Given the description of an element on the screen output the (x, y) to click on. 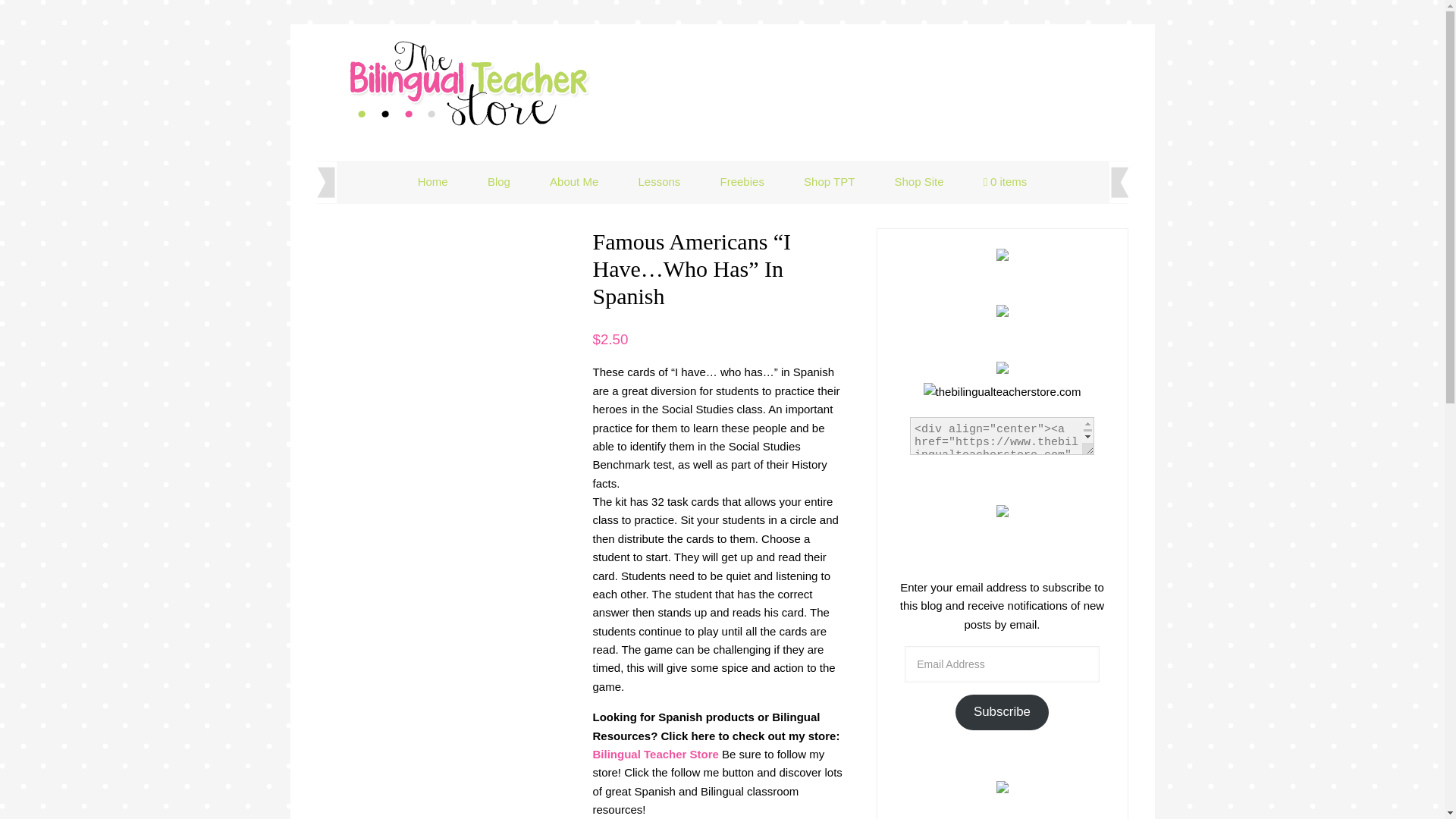
Shop Site (918, 181)
The Bilingual Teacher Store (468, 84)
Freebies (742, 181)
Blog (498, 181)
thebilingualteacherstore.com (1002, 392)
Home (431, 181)
0 items (1005, 181)
Start shopping (1005, 181)
Lessons (659, 181)
Shop TPT (829, 181)
